Given the description of an element on the screen output the (x, y) to click on. 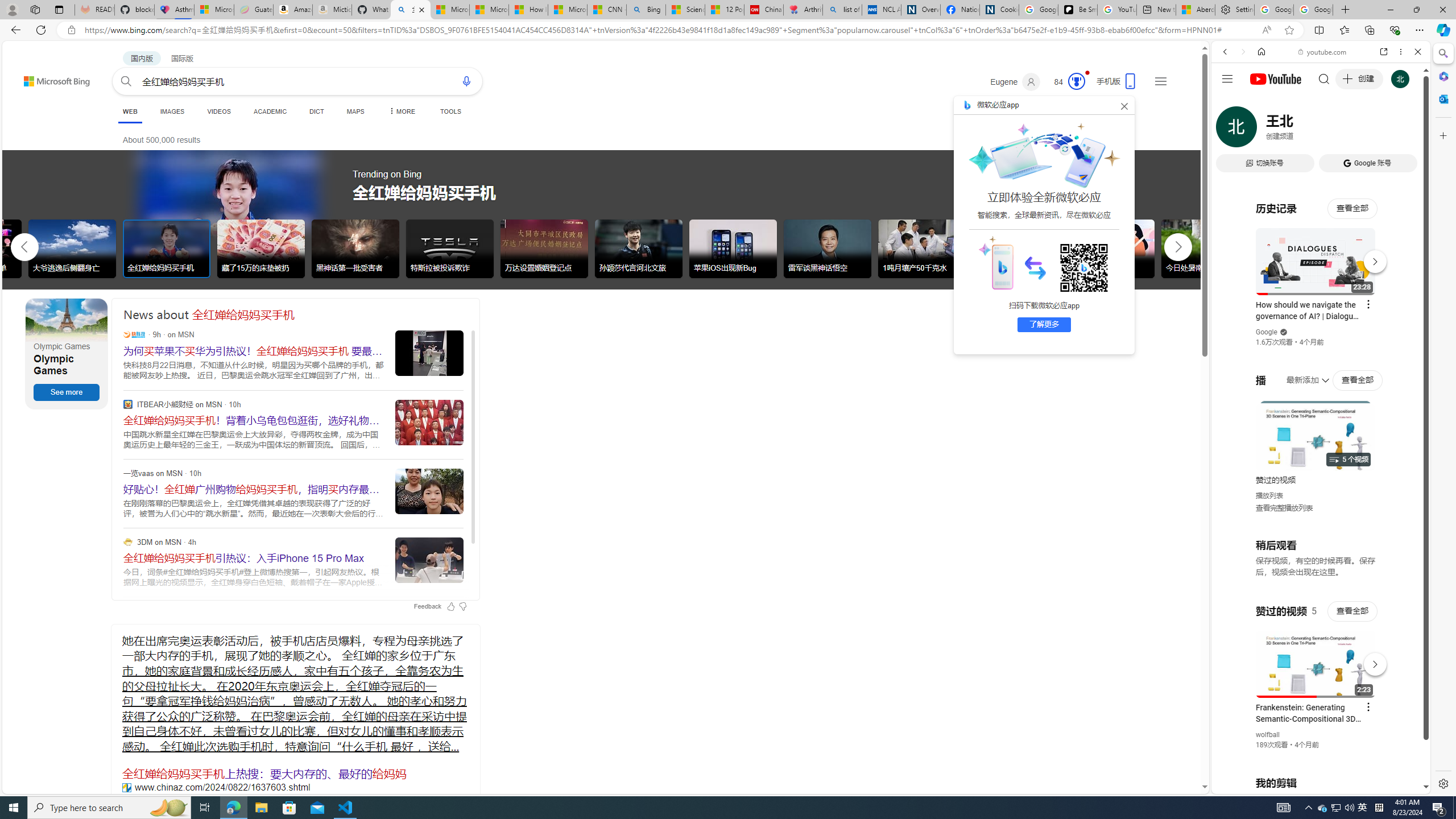
Microsoft Rewards 84 (1065, 81)
Trailer #2 [HD] (1320, 337)
Global web icon (1232, 655)
MAPS (355, 111)
WEB (129, 111)
Skip to content (35, 76)
Refresh (40, 29)
WEB (129, 112)
youtube.com (1322, 51)
Back to Bing search (50, 78)
Science - MSN (685, 9)
